Given the description of an element on the screen output the (x, y) to click on. 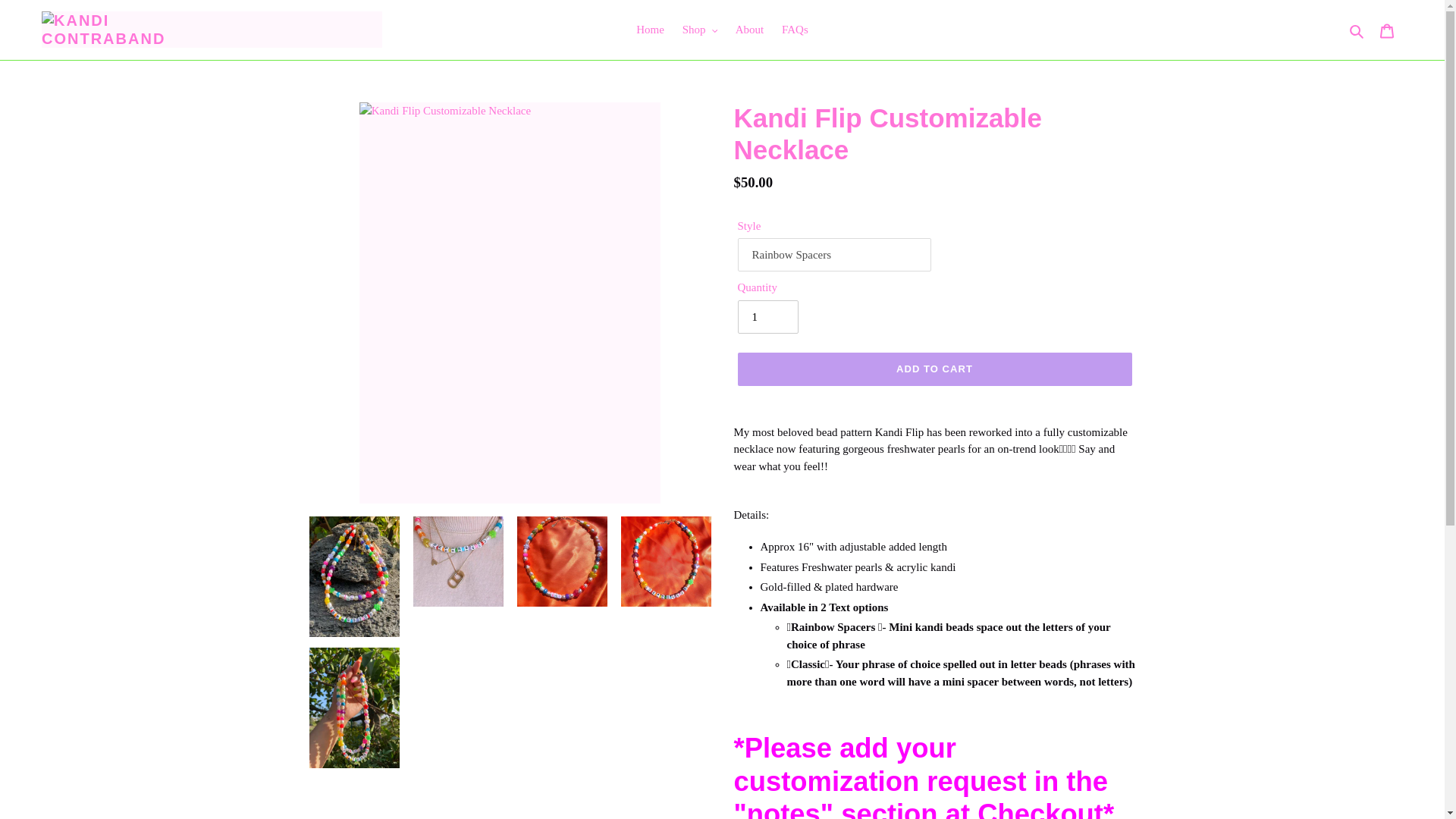
Search (1357, 29)
Cart (1387, 29)
FAQs (794, 29)
Shop (700, 29)
About (749, 29)
1 (766, 316)
Home (649, 29)
